Given the description of an element on the screen output the (x, y) to click on. 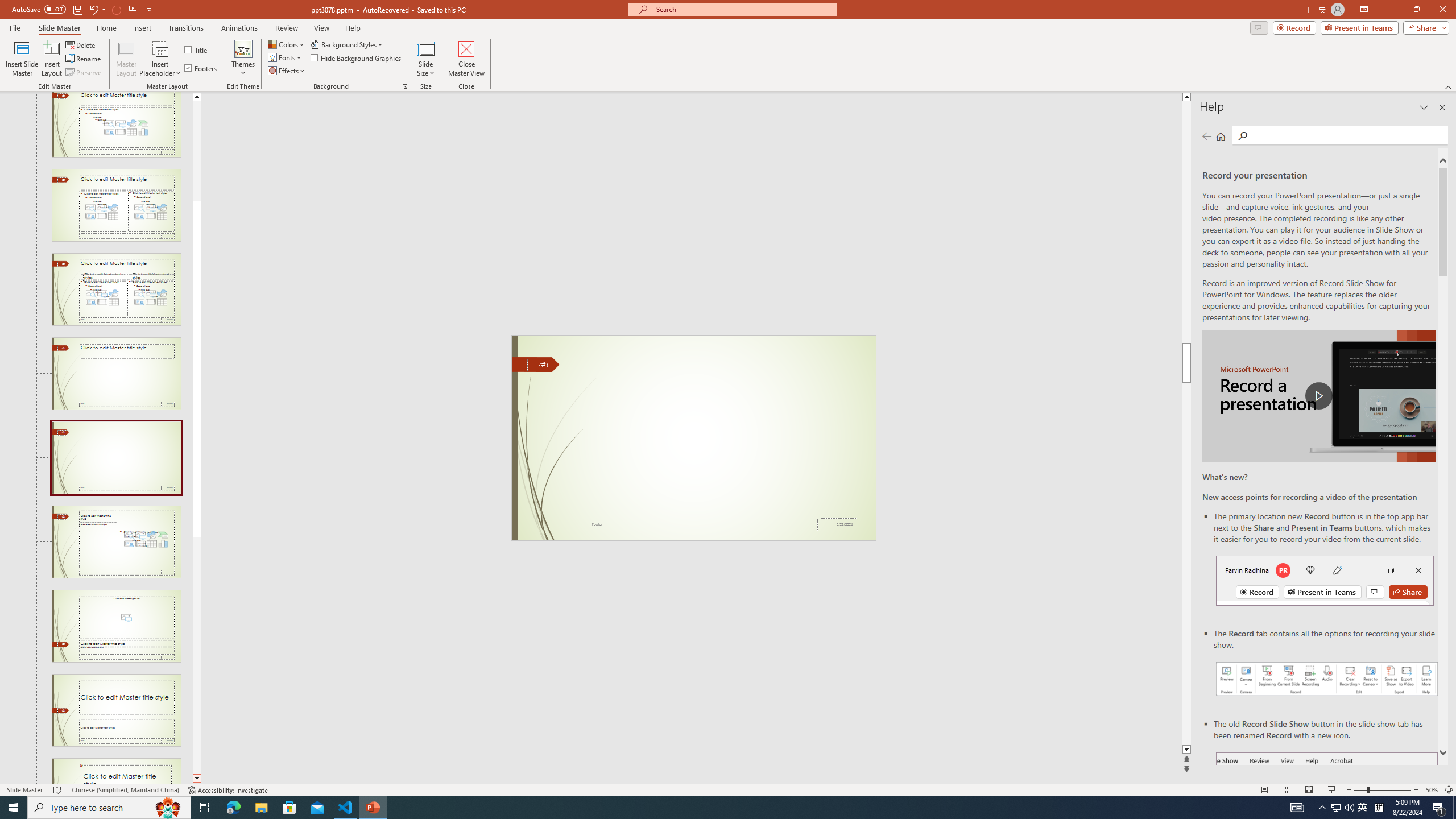
Format Background... (404, 85)
Minimize (1390, 9)
Customize Quick Access Toolbar (149, 9)
Line down (197, 778)
Page down (197, 655)
Restore Down (1416, 9)
Slide Comparison Layout: used by no slides (116, 289)
Zoom to Fit  (1449, 790)
Accessibility Checker Accessibility: Investigate (228, 790)
Freeform 11 (535, 364)
Collapse the Ribbon (1448, 86)
Home (1220, 136)
Slide Quote with Caption Layout: used by no slides (116, 770)
File Tab (15, 27)
